Given the description of an element on the screen output the (x, y) to click on. 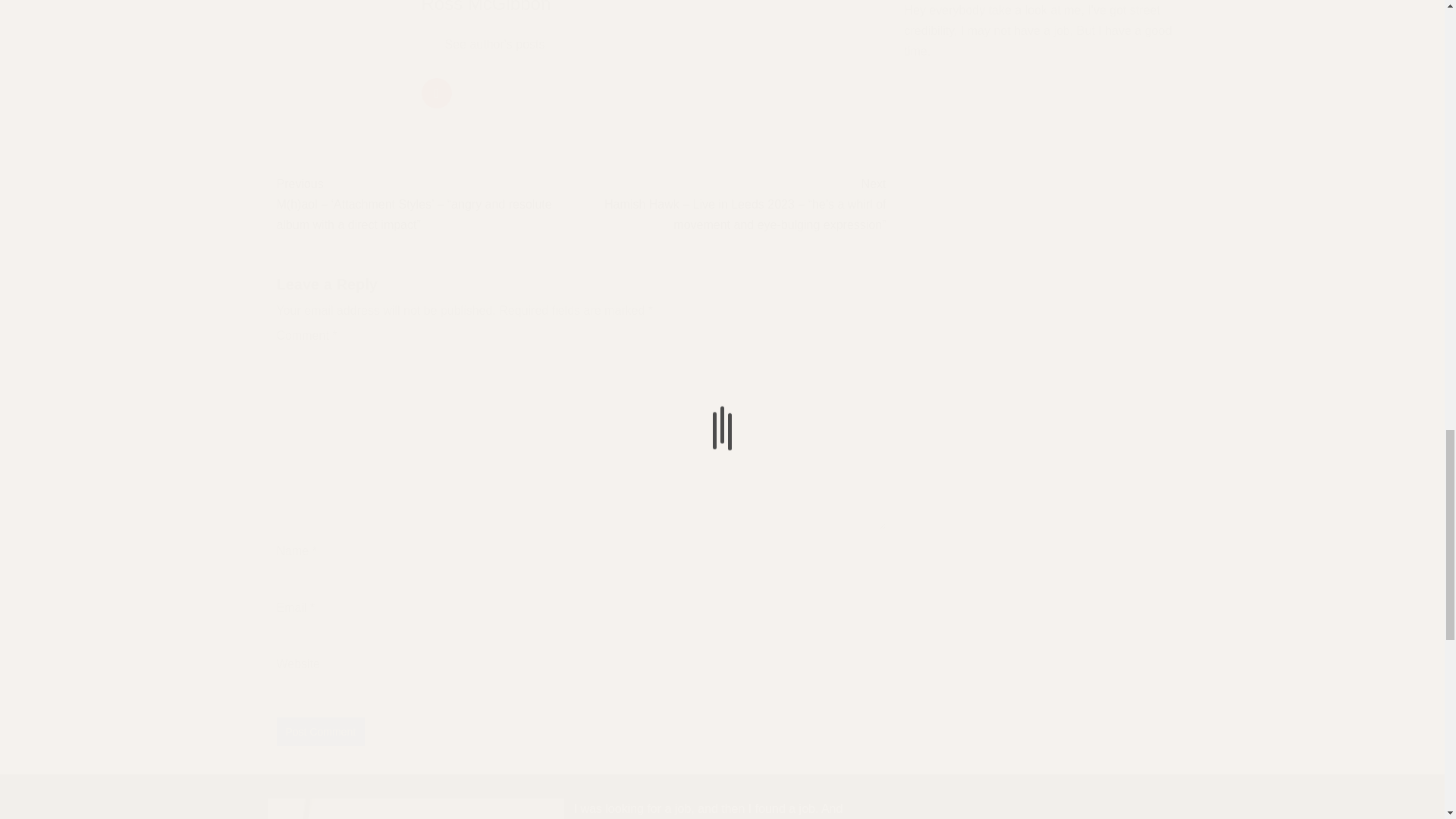
See author's posts (495, 43)
Post Comment (320, 731)
Ross McGibbon (486, 6)
Post Comment (320, 731)
